Given the description of an element on the screen output the (x, y) to click on. 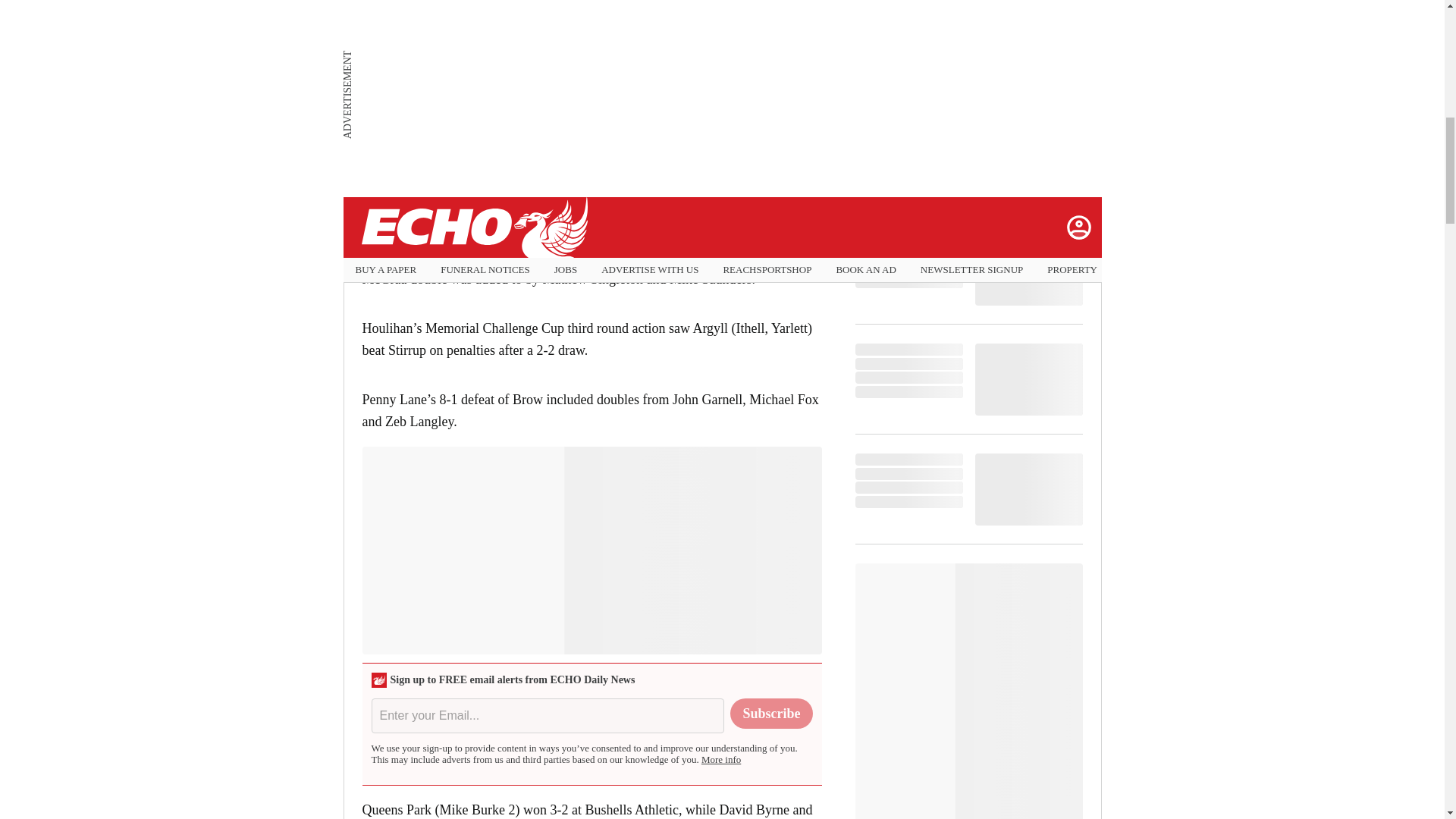
Subscribe (771, 713)
More info (721, 758)
